Given the description of an element on the screen output the (x, y) to click on. 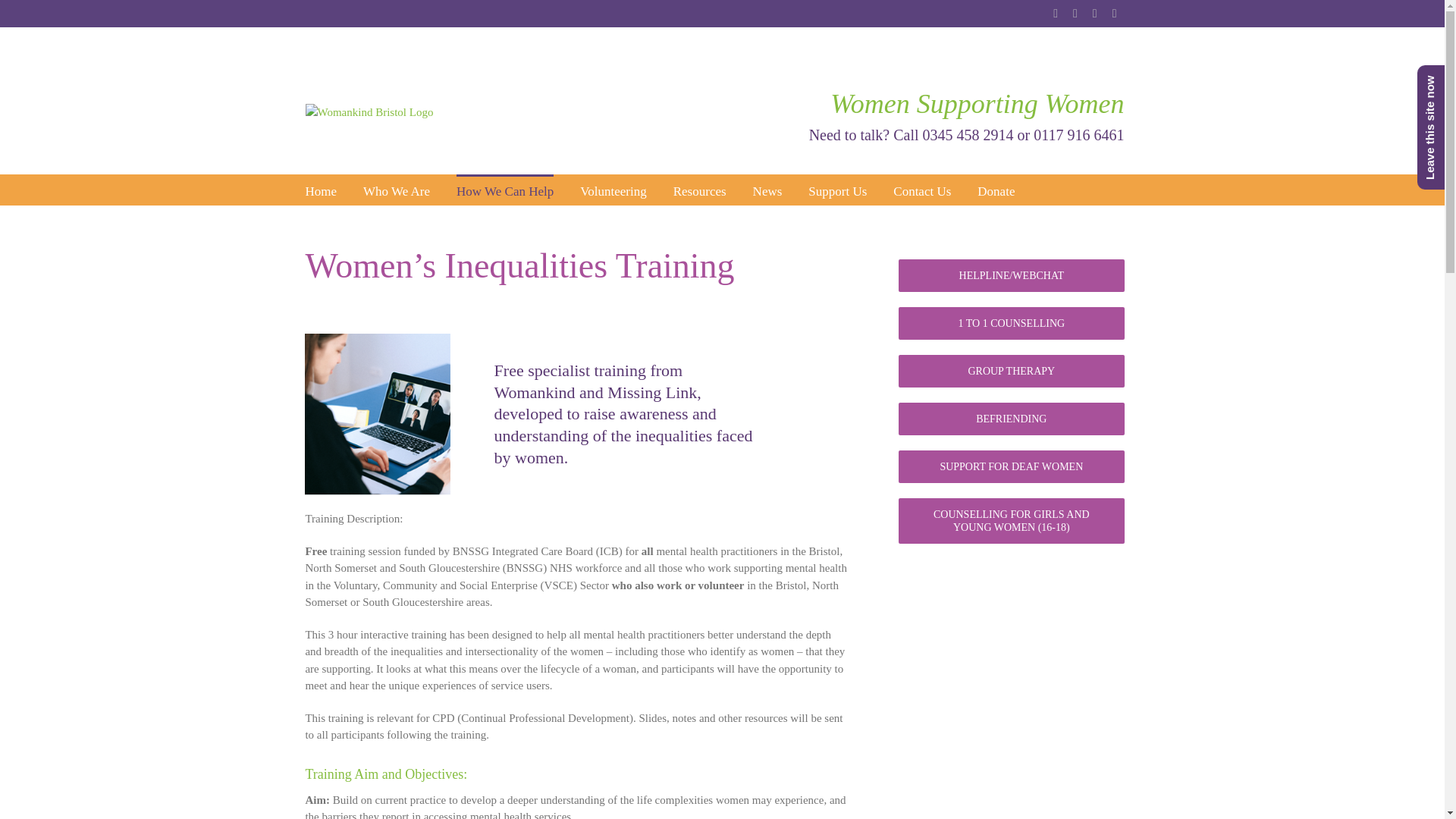
Resources (699, 189)
Who We Are (395, 189)
How We Can Help (505, 189)
Home (320, 189)
Volunteering (612, 189)
